Given the description of an element on the screen output the (x, y) to click on. 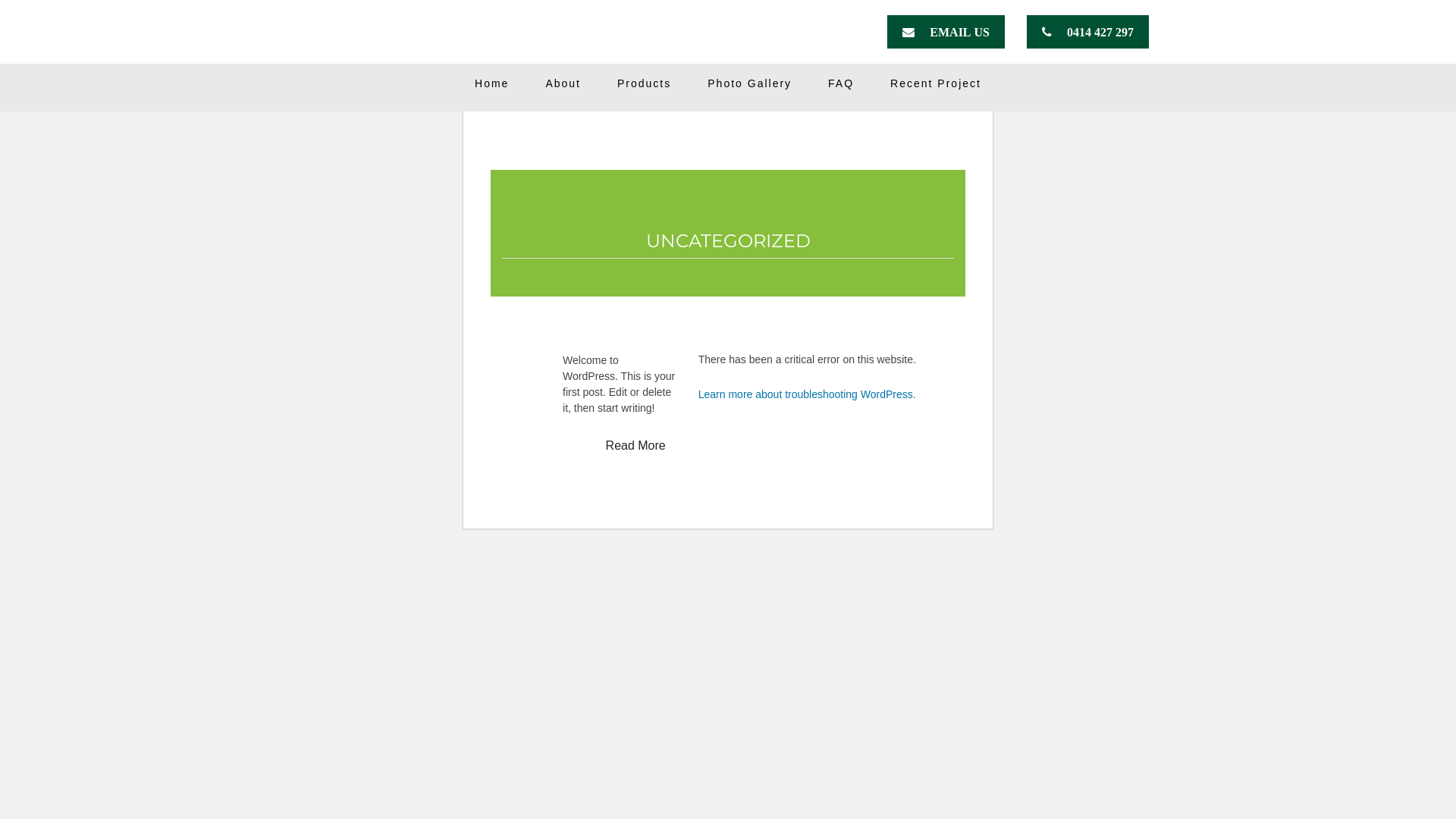
Learn more about troubleshooting WordPress. Element type: text (807, 394)
Hello world! Element type: hover (619, 332)
EMAIL US Element type: text (945, 31)
About Element type: text (562, 83)
Read More Element type: text (635, 445)
0414 427 297 Element type: text (1087, 31)
Home Element type: text (491, 83)
Photo Gallery Element type: text (749, 83)
Products Element type: text (644, 83)
Recent Project Element type: text (935, 83)
FAQ Element type: text (840, 83)
